Given the description of an element on the screen output the (x, y) to click on. 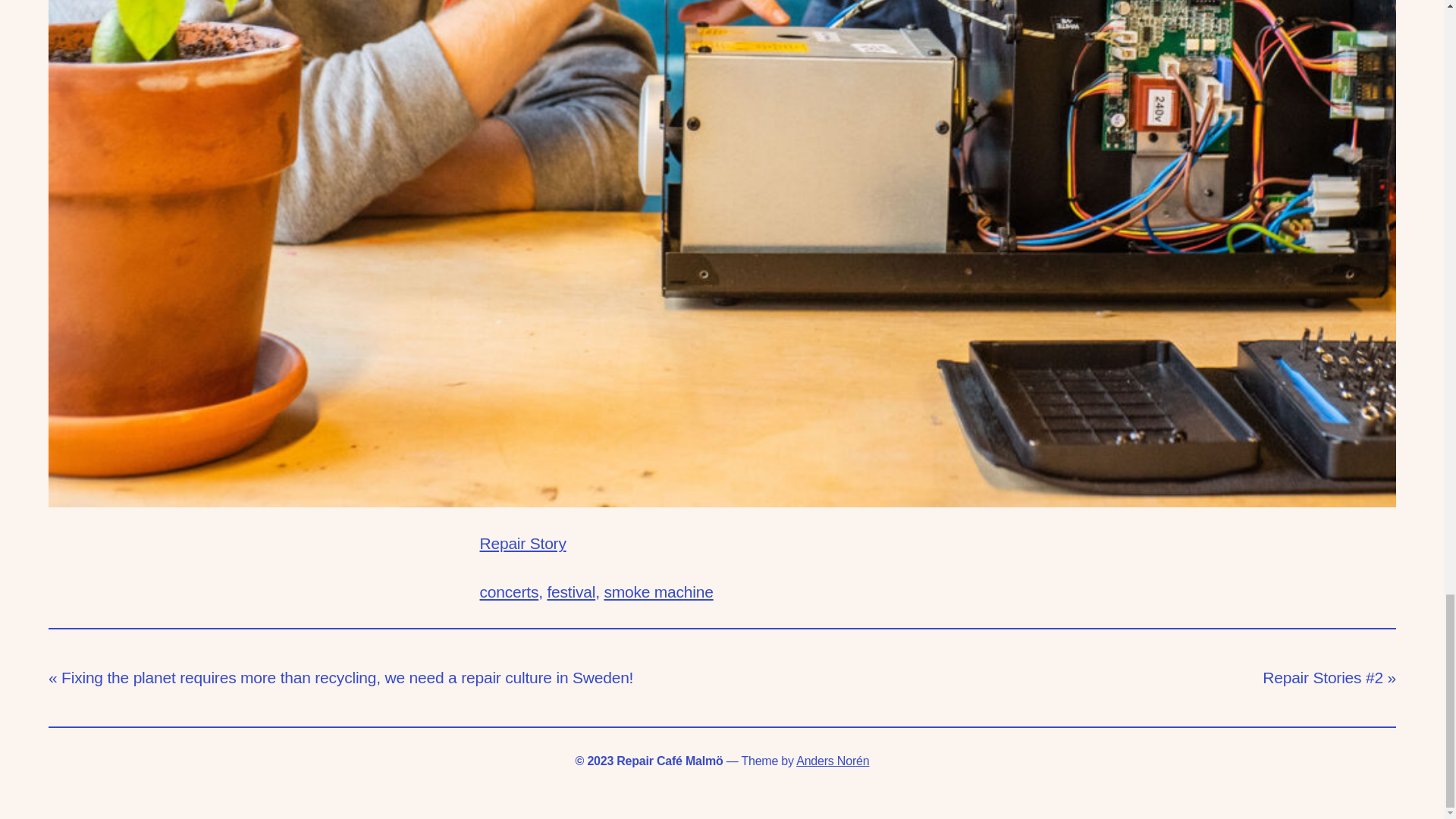
concerts (508, 591)
smoke machine (658, 591)
Repair Story (522, 543)
festival (571, 591)
